Given the description of an element on the screen output the (x, y) to click on. 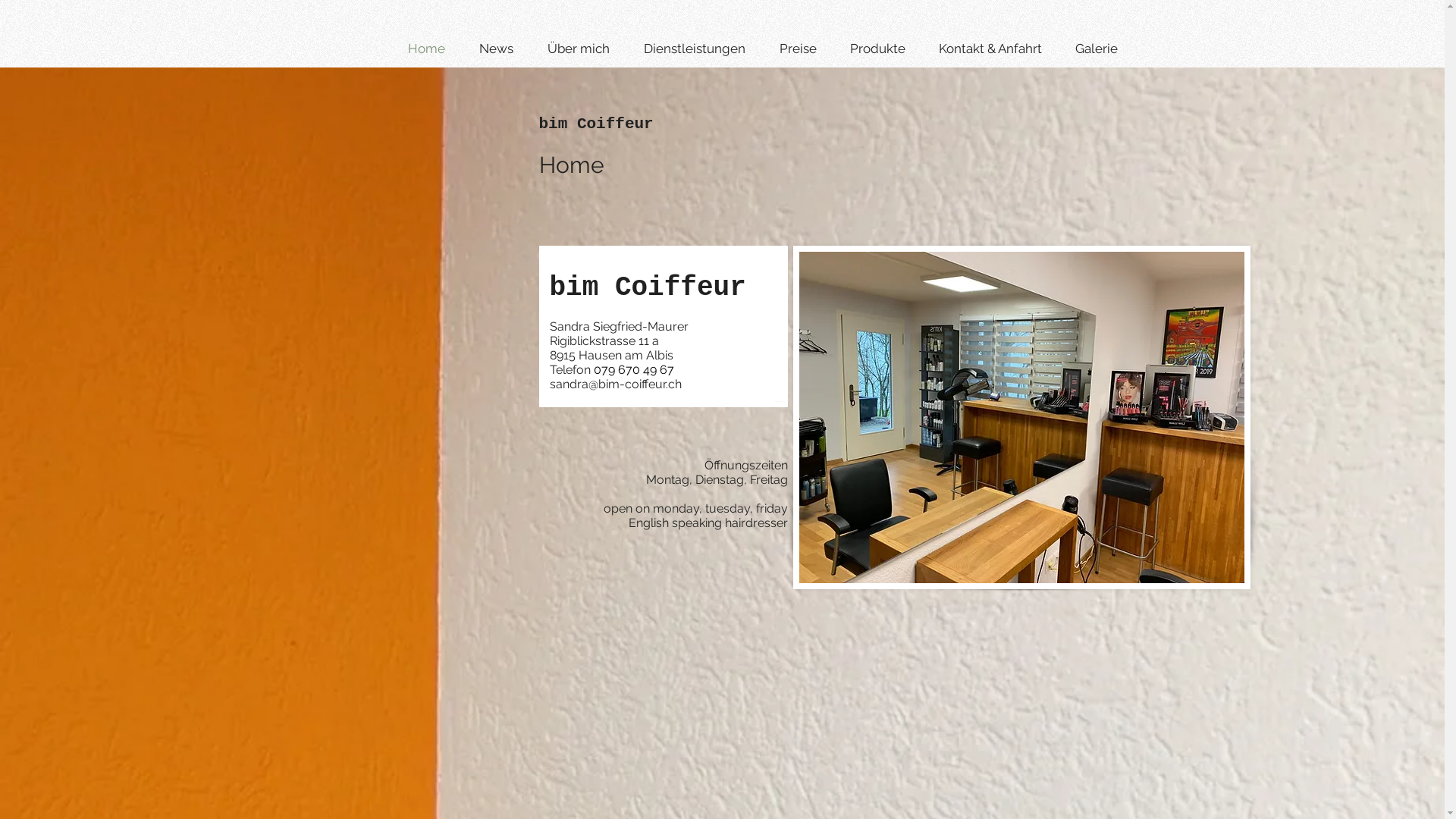
sandra@bim-coiffeur.ch Element type: text (614, 383)
Galerie Element type: text (1101, 48)
Preise Element type: text (802, 48)
Dienstleistungen Element type: text (700, 48)
Home Element type: text (431, 48)
News Element type: text (501, 48)
Kontakt & Anfahrt Element type: text (994, 48)
Rigiblickstrasse 11 a Element type: text (603, 340)
079 670 49 67 Element type: text (633, 369)
Produkte Element type: text (882, 48)
